Given the description of an element on the screen output the (x, y) to click on. 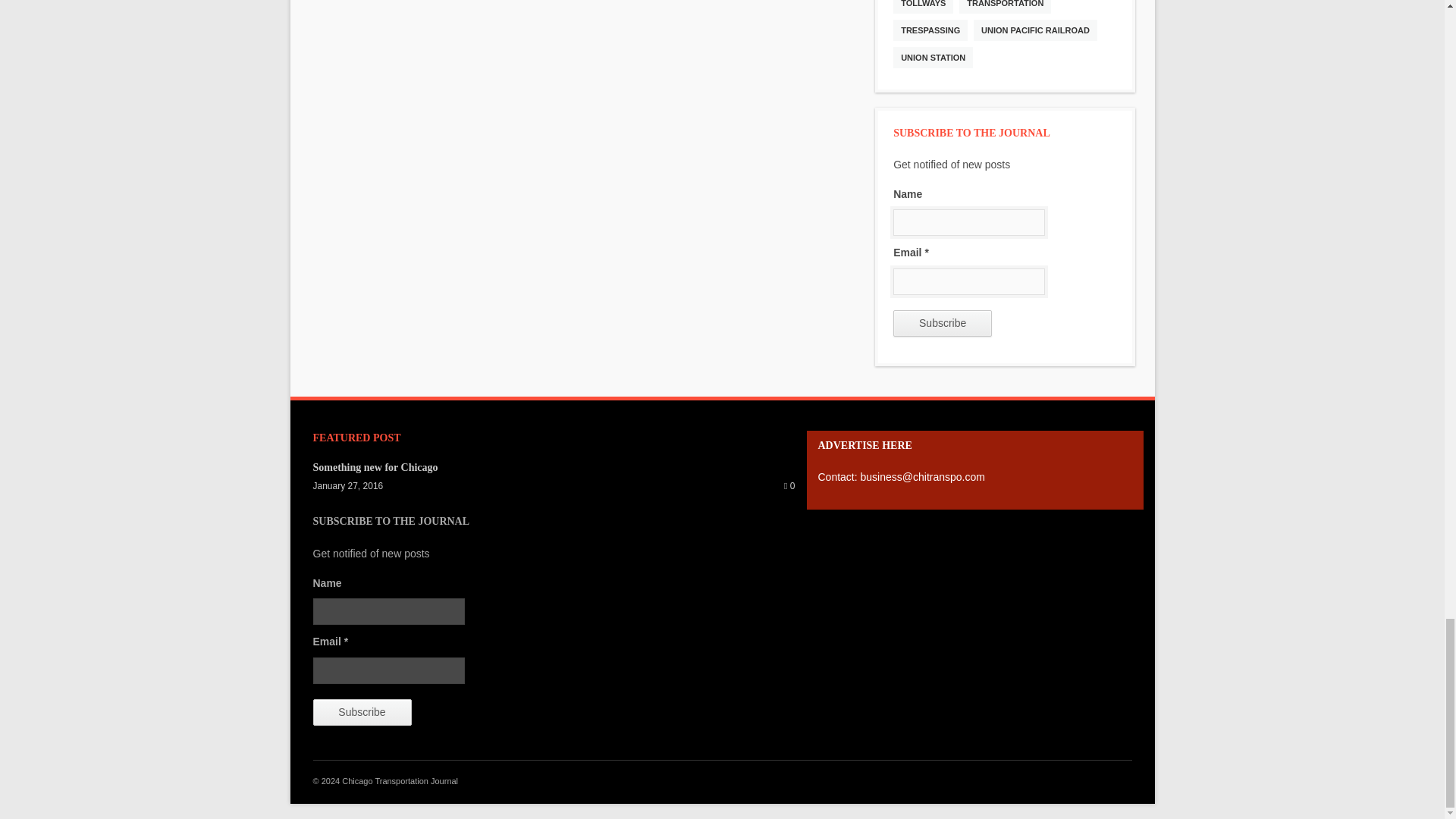
3:55 pm (347, 485)
Subscribe (942, 323)
Subscribe (361, 712)
